Given the description of an element on the screen output the (x, y) to click on. 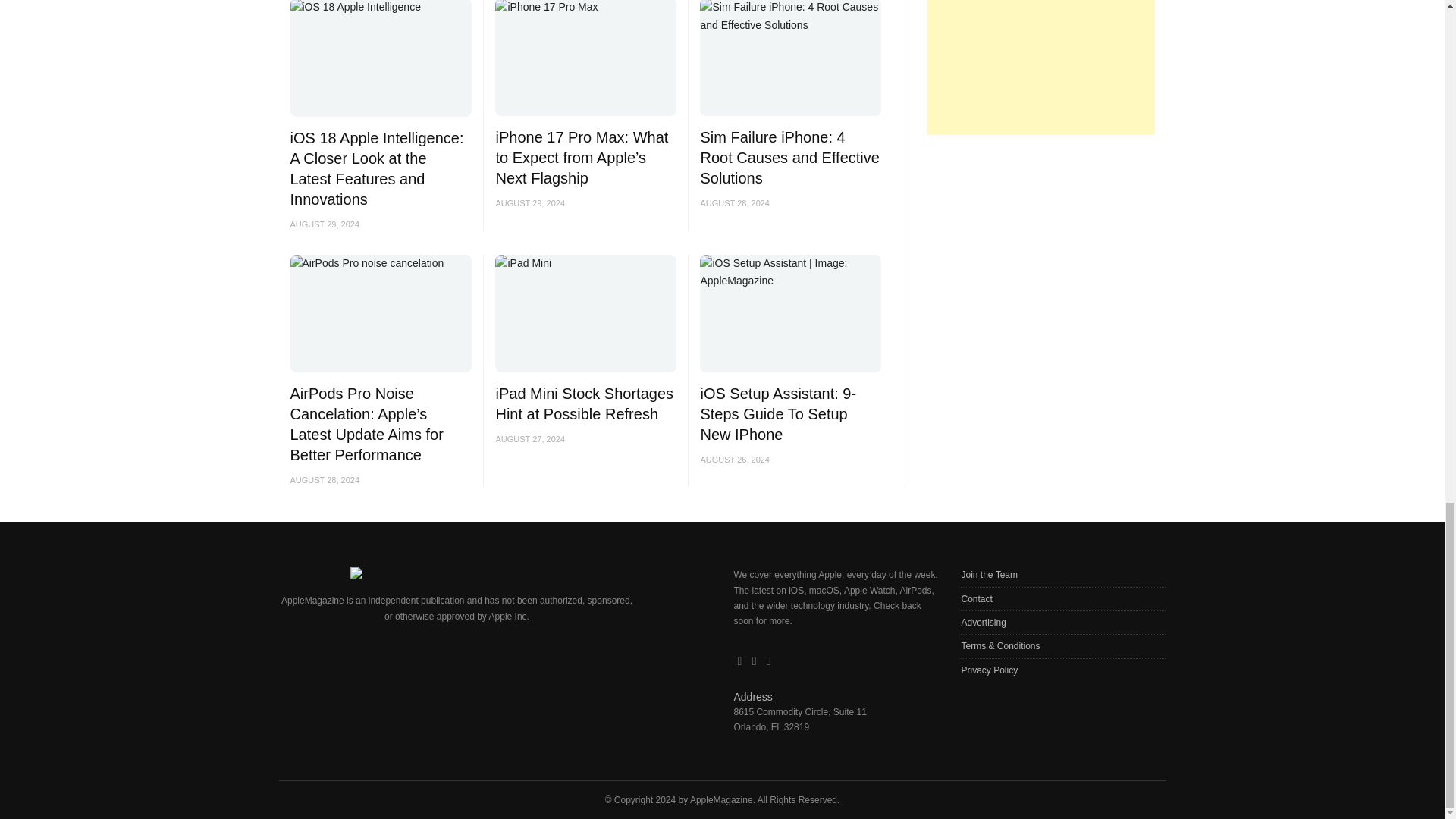
AppleMagazine - Everything Apple, All in One Place. (721, 799)
Sim Failure iPhone: 4 Root Causes and Effective Solutions (789, 157)
Advertisement (1037, 67)
iOS Setup Assistant: 9-Steps Guide To Setup New IPhone (778, 413)
iPad Mini Stock Shortages Hint at Possible Refresh (583, 403)
